Given the description of an element on the screen output the (x, y) to click on. 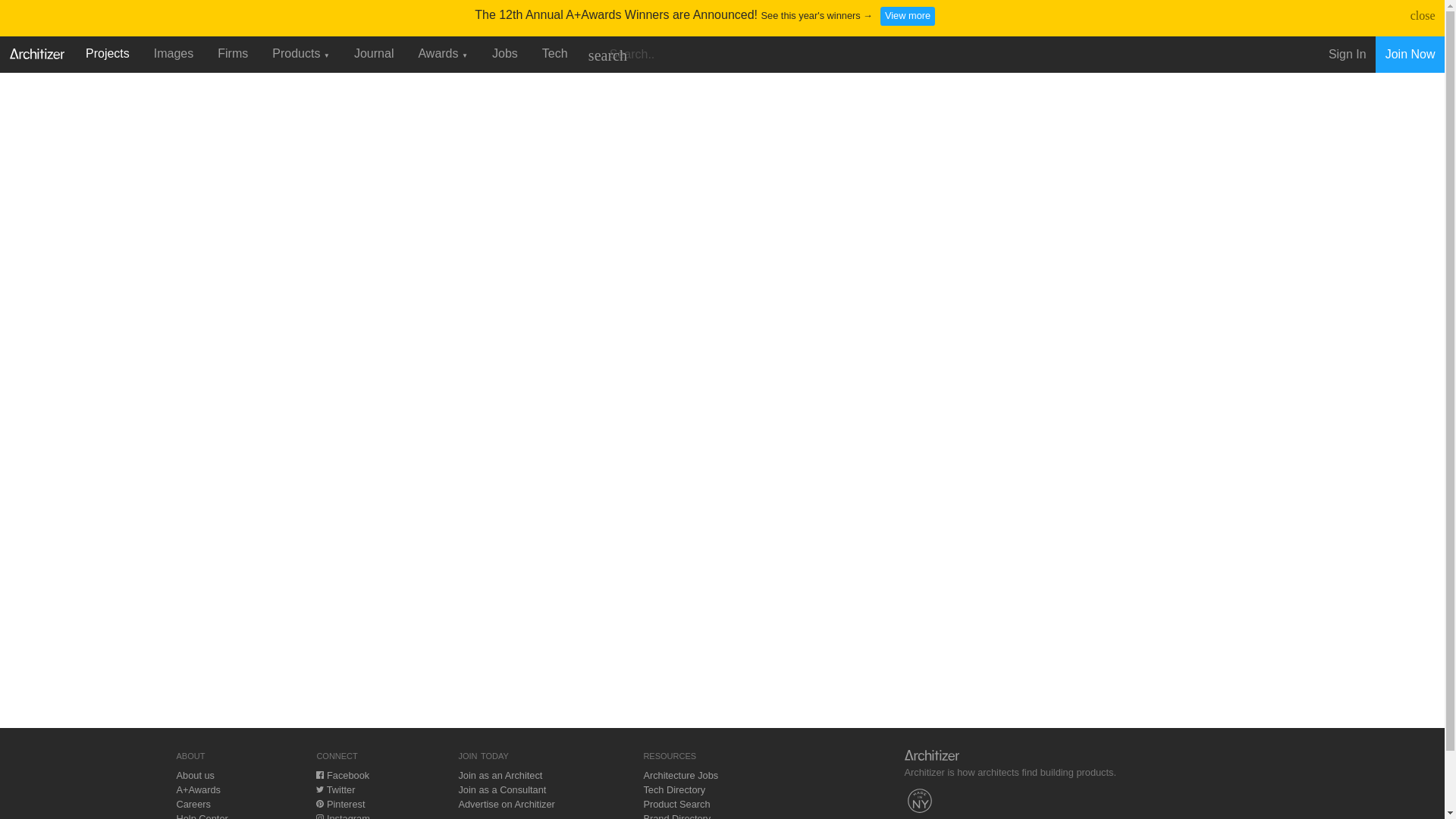
Sign In (1347, 54)
Join as a Consultant (502, 789)
Product Search (676, 803)
close (1422, 15)
About us (195, 775)
Brand Directory (676, 816)
Pinterest (340, 803)
Twitter (335, 789)
Tech (554, 53)
Help Center (201, 816)
